Given the description of an element on the screen output the (x, y) to click on. 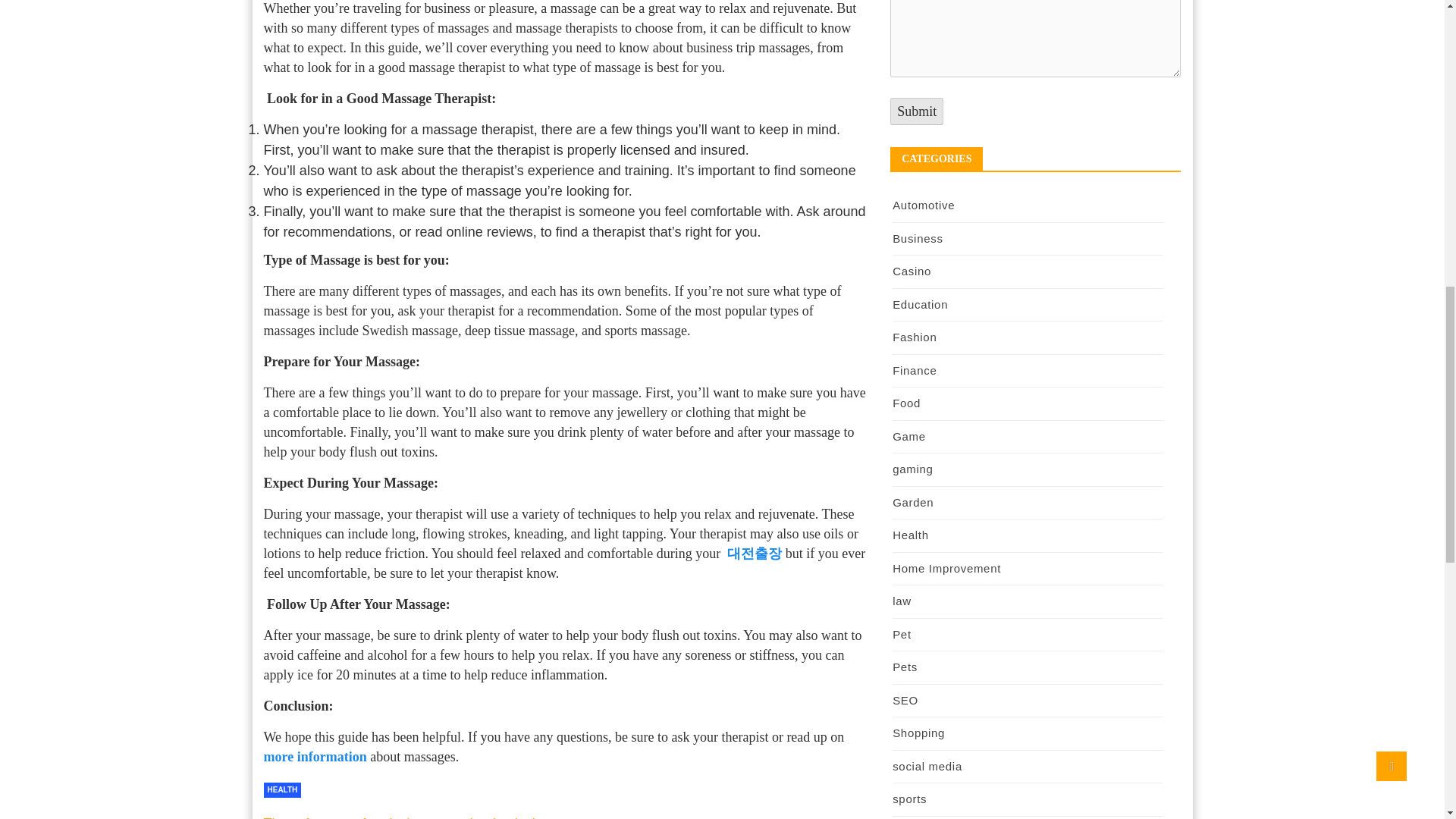
more information (314, 756)
Automotive (923, 205)
HEALTH (282, 789)
Business (917, 237)
Submit (916, 111)
The safest area for playing sports betting is the Toto site (405, 817)
Submit (916, 111)
